Given the description of an element on the screen output the (x, y) to click on. 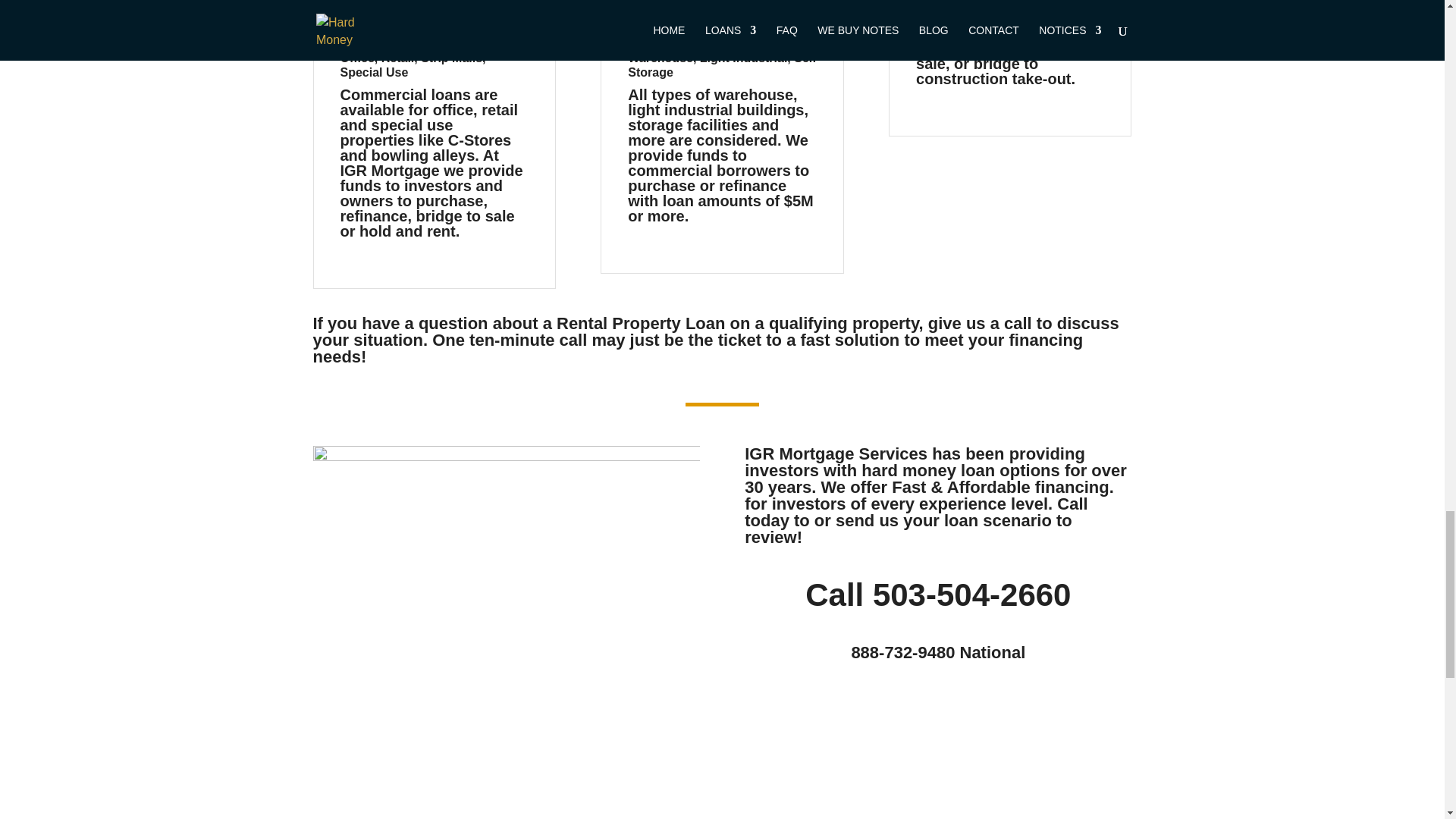
perfecthandshake (505, 566)
